Given the description of an element on the screen output the (x, y) to click on. 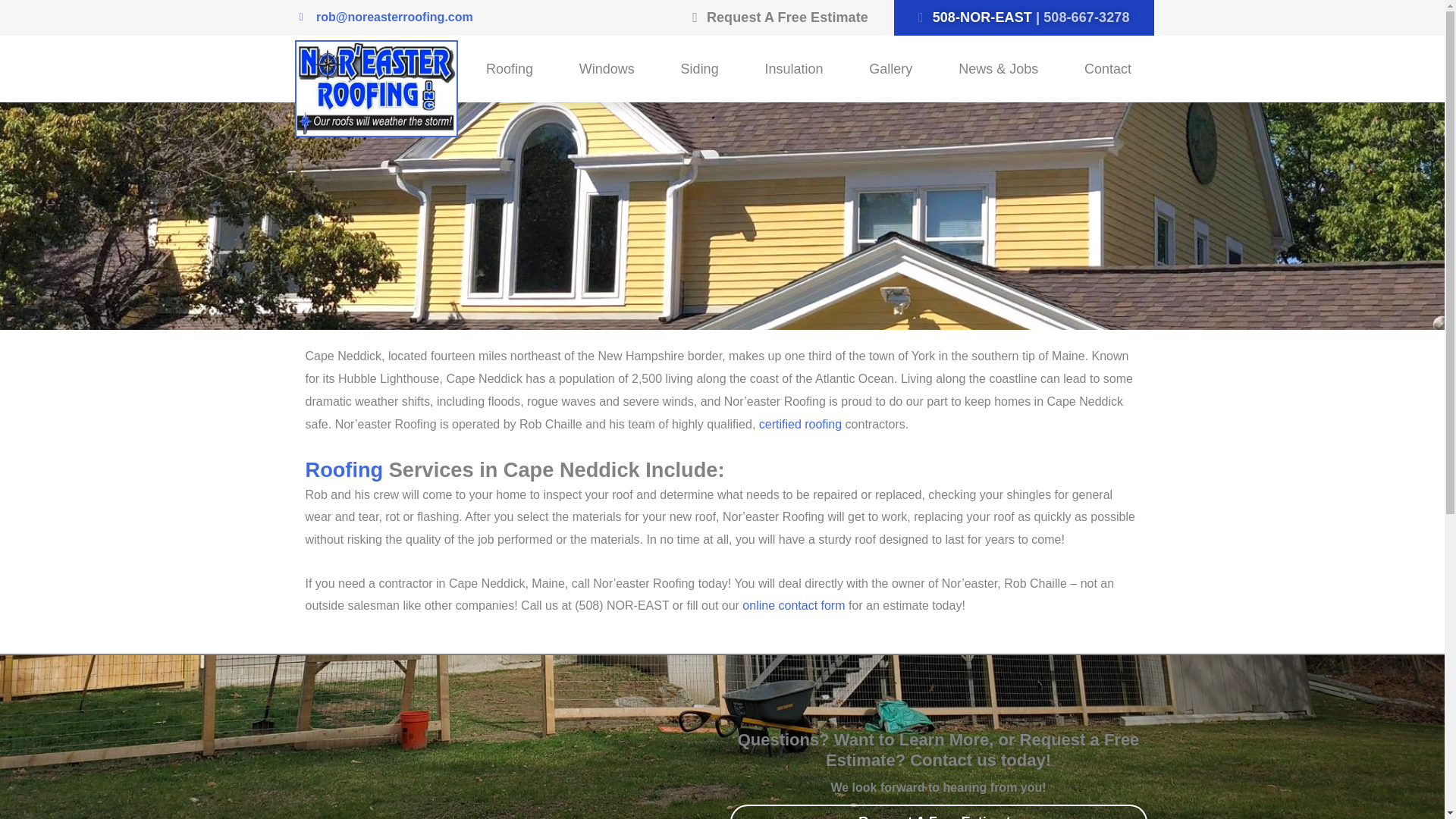
Siding (699, 68)
Windows (607, 68)
Gallery (890, 68)
Request A Free Estimate (780, 18)
Contact (1107, 68)
Insulation (793, 68)
Roofing (509, 68)
